Given the description of an element on the screen output the (x, y) to click on. 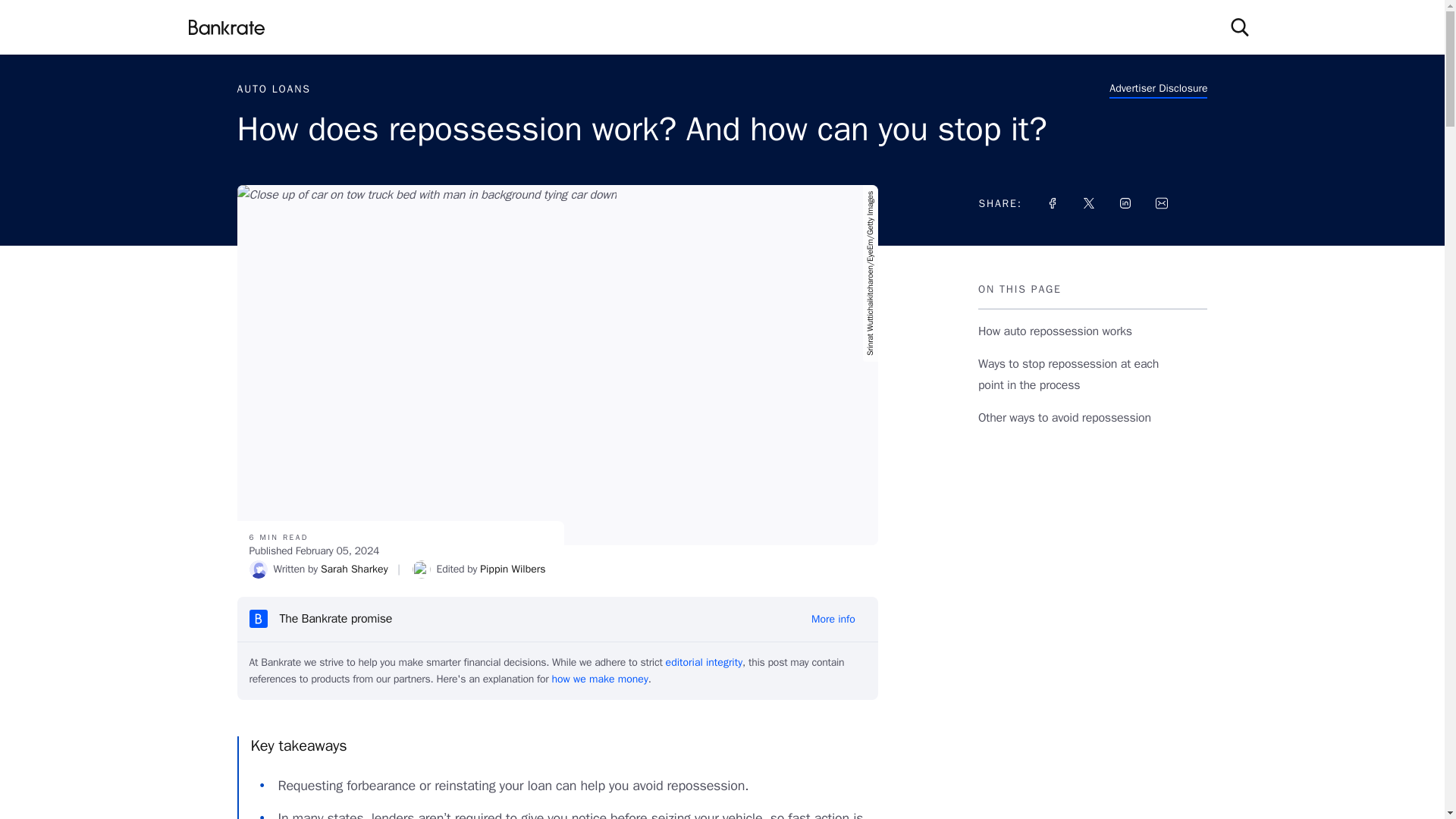
Email (1161, 203)
Twitter (1088, 203)
LinkedIn (1125, 203)
Facebook (1052, 203)
